Given the description of an element on the screen output the (x, y) to click on. 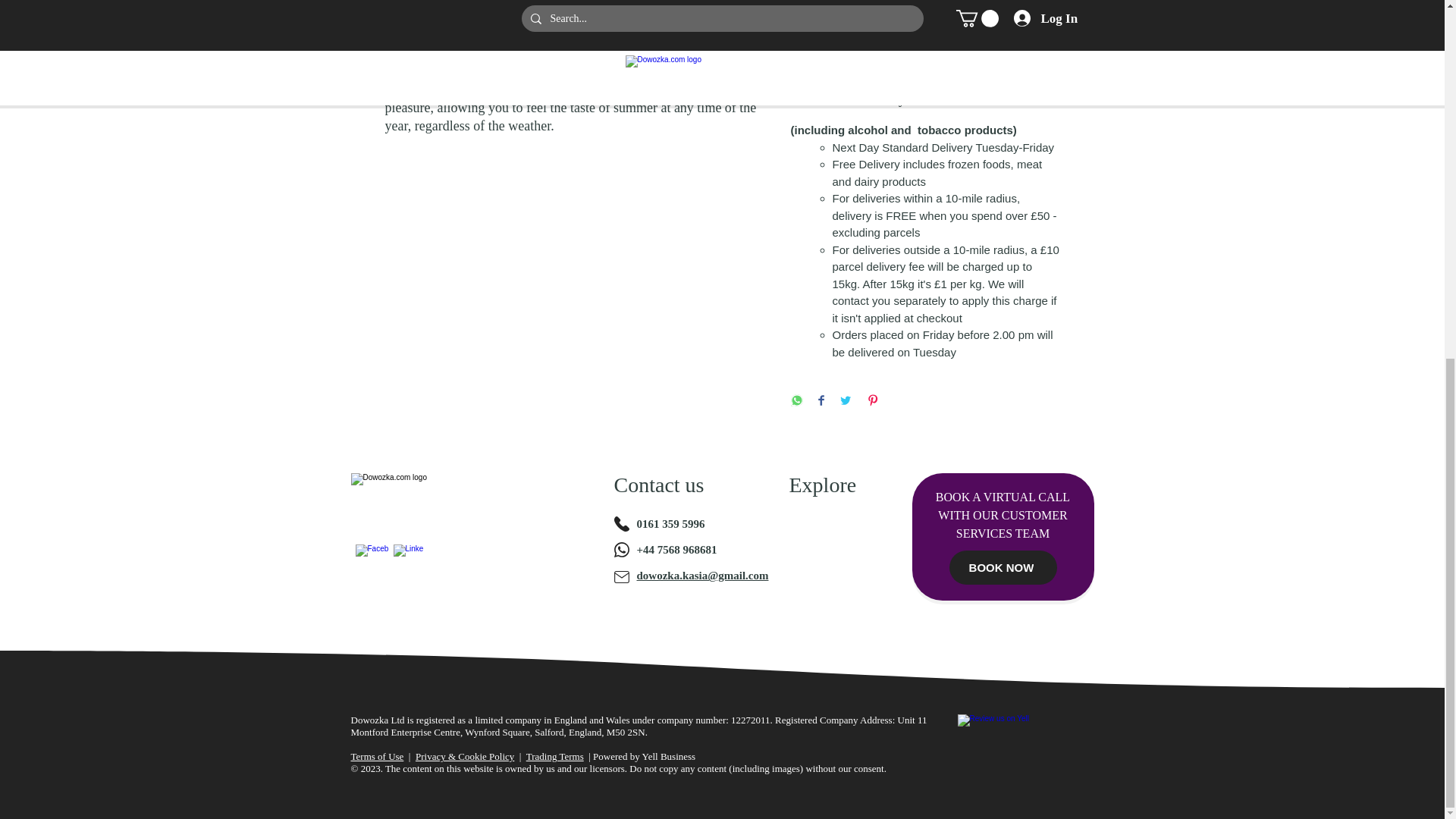
BOOK NOW (1003, 567)
HOME (834, 523)
DELIVERY TIMES (834, 568)
Terms of Use (376, 756)
Trading Terms (554, 756)
Nationwide Delivery (924, 99)
SHOP (834, 546)
CONTACT (834, 591)
